Given the description of an element on the screen output the (x, y) to click on. 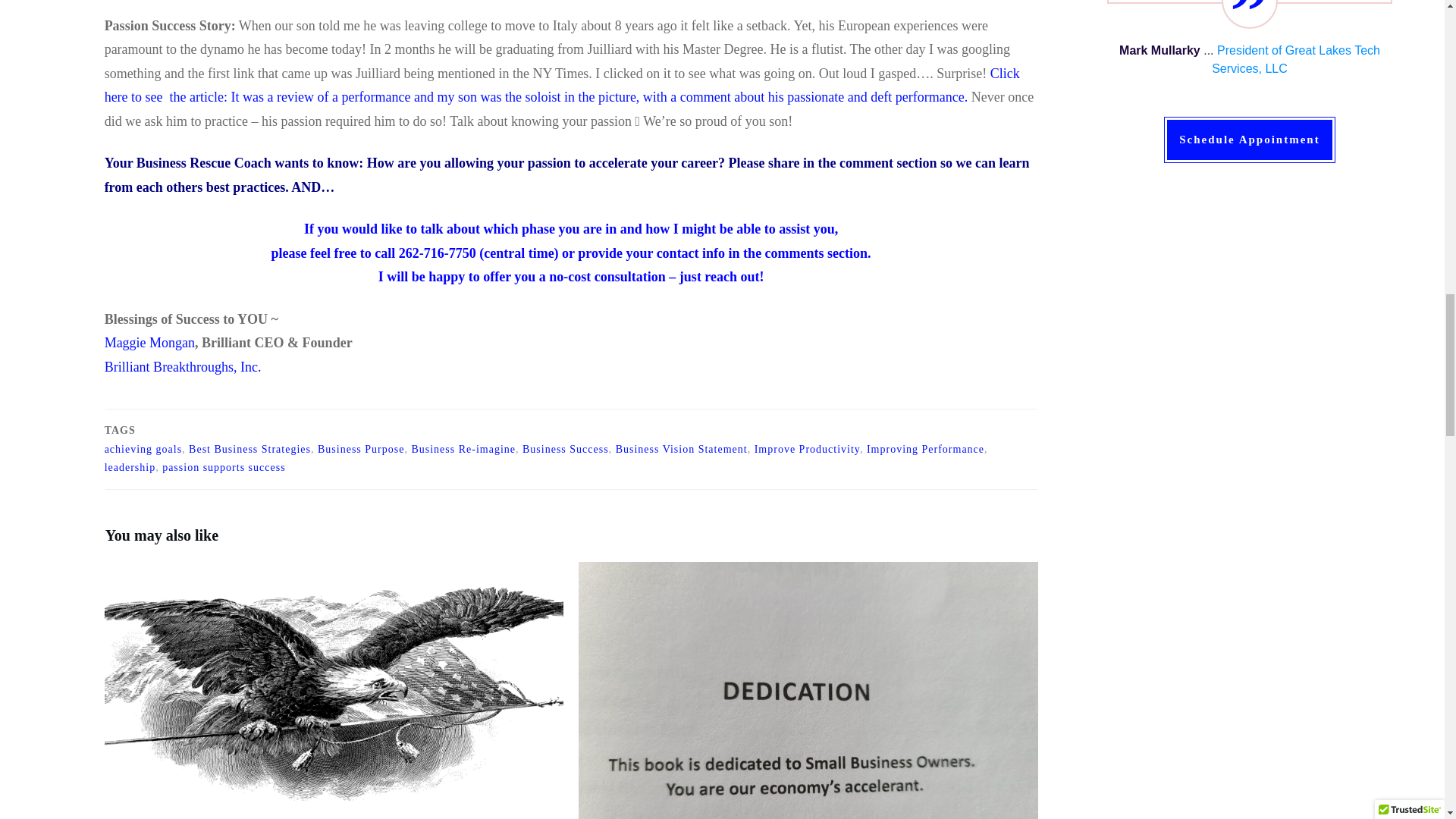
Business Re-imagine (462, 449)
Best Business Strategies (250, 449)
achieving goals (143, 449)
Business Success (565, 449)
leadership (129, 467)
Best Business Strategies (250, 449)
Brilliant Breakthroughs, Inc. (183, 366)
Business Purpose (360, 449)
Brilliant Breakthroughs Website (183, 366)
Maggie Mongan (149, 342)
Who is Maggie Mongan? (149, 342)
Improving Performance (925, 449)
Business Re-imagine (462, 449)
Improve Productivity (807, 449)
